Given the description of an element on the screen output the (x, y) to click on. 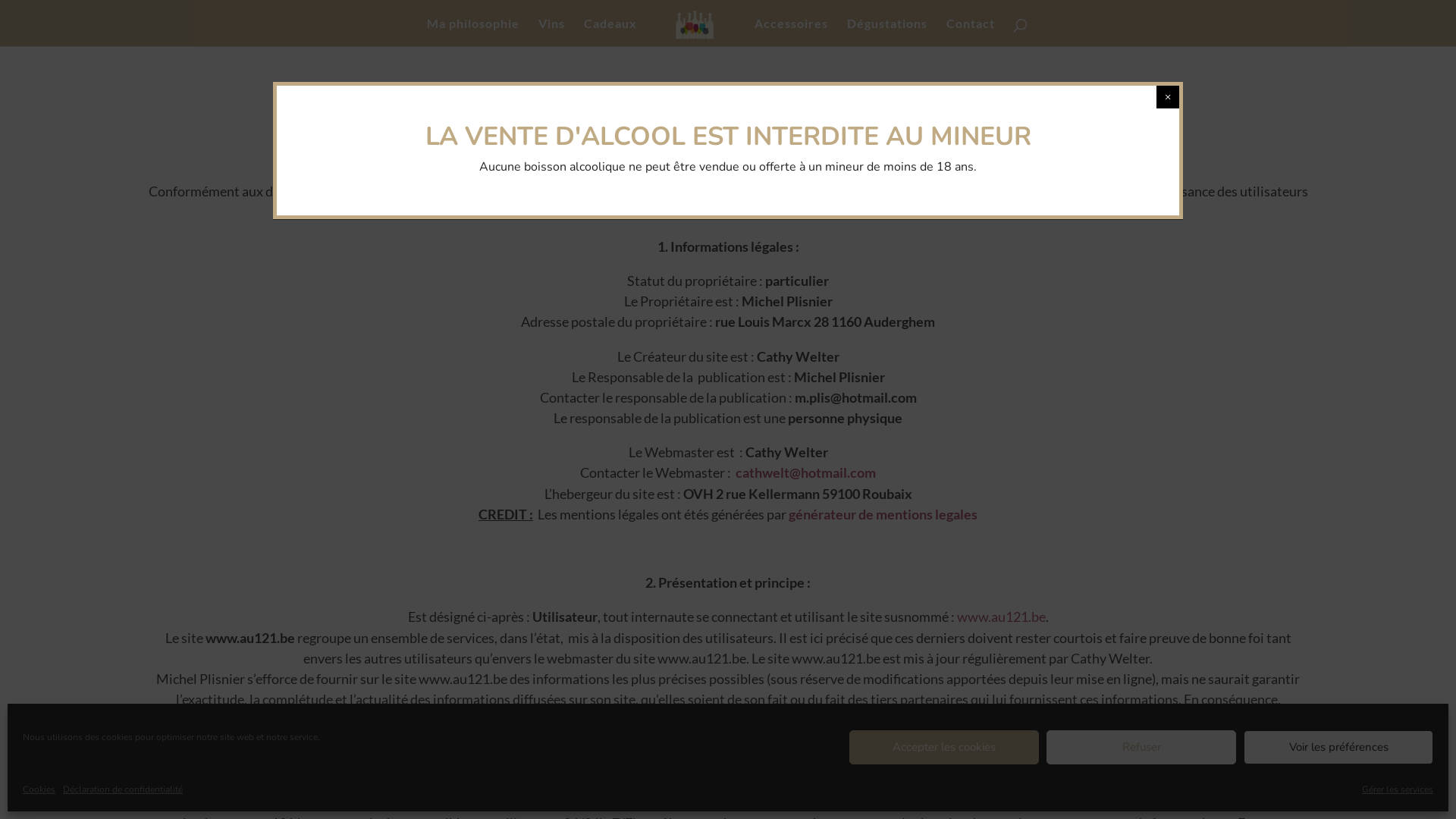
Vins Element type: text (551, 32)
www.au121.be Element type: text (703, 211)
Ma philosophie Element type: text (472, 32)
Accessoires Element type: text (791, 32)
Accepter les cookies Element type: text (943, 747)
Cadeaux Element type: text (610, 32)
Cookies Element type: text (38, 789)
cathwelt@hotmail.com Element type: text (805, 472)
Contact Element type: text (970, 32)
www.au121.be Element type: text (1001, 616)
Refuser Element type: text (1141, 747)
